Given the description of an element on the screen output the (x, y) to click on. 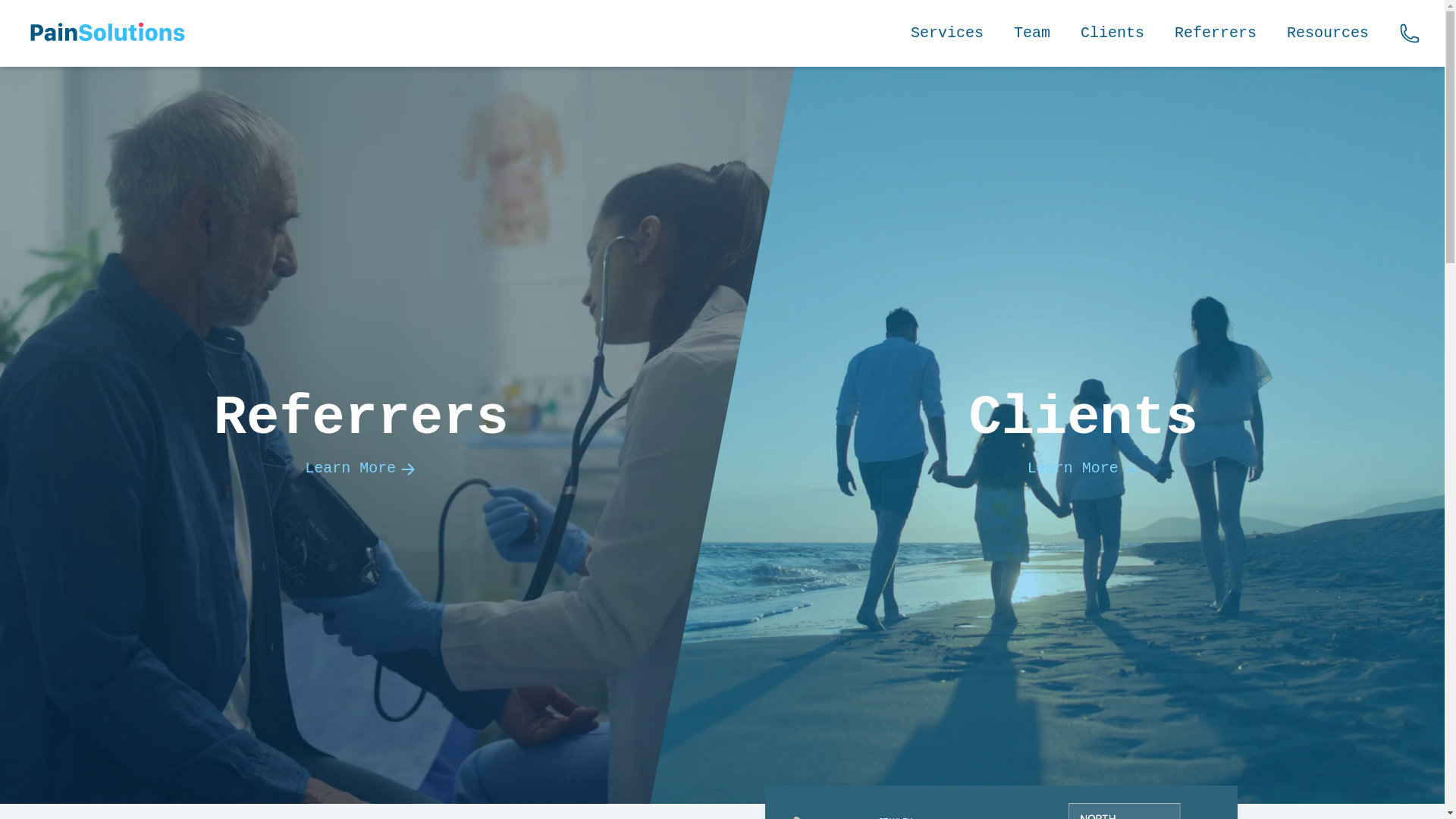
Learn More Element type: text (361, 468)
Referrers Element type: text (1215, 32)
Resources Element type: text (1327, 32)
Learn More Element type: text (1083, 468)
Services Element type: text (946, 32)
Clients Element type: text (1112, 32)
Team Element type: text (1031, 32)
